Given the description of an element on the screen output the (x, y) to click on. 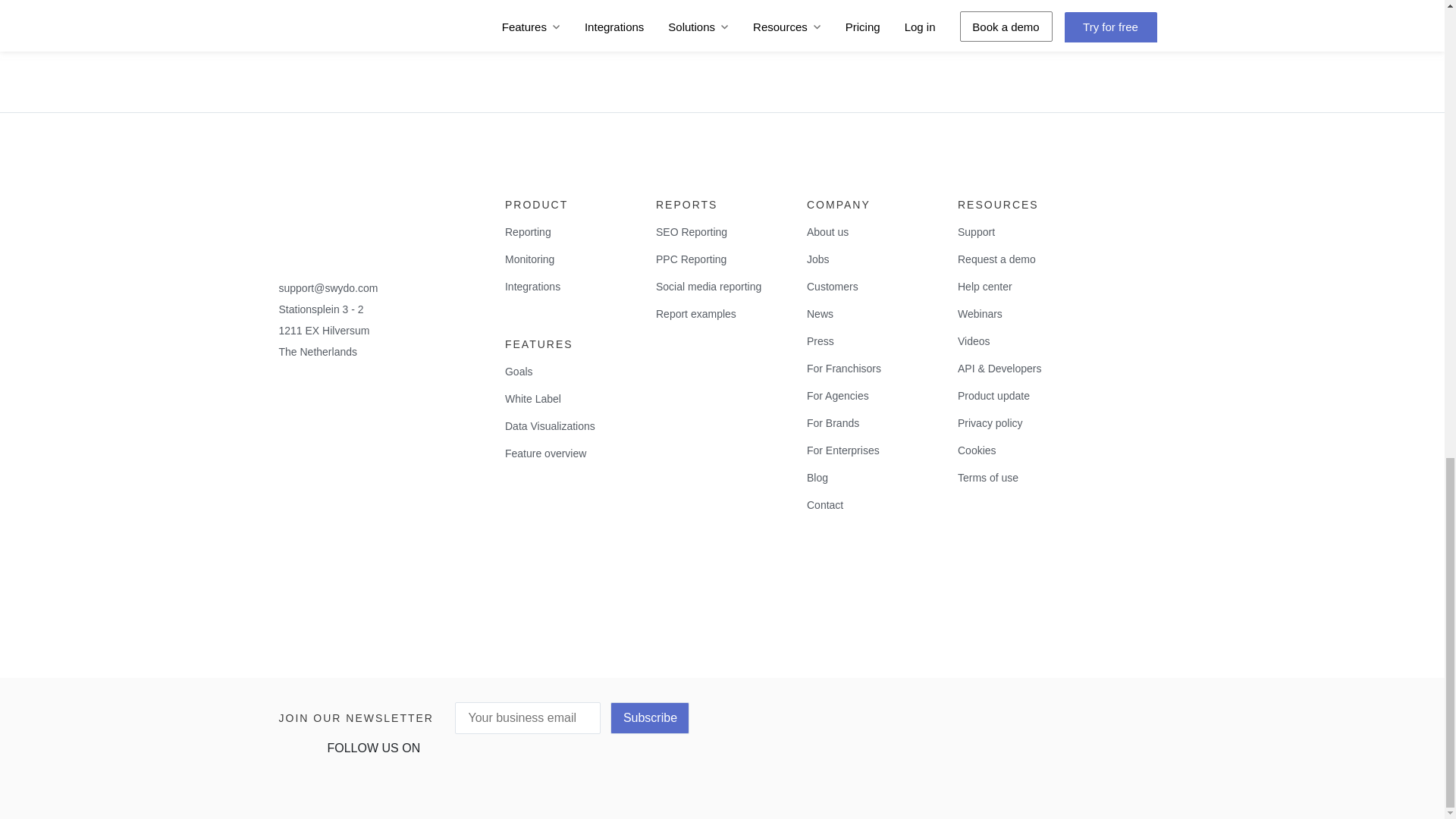
Report examples (722, 313)
Read reviews on Capterra (345, 566)
Read reviews on Q2 (345, 440)
Subscribe (649, 717)
